Given the description of an element on the screen output the (x, y) to click on. 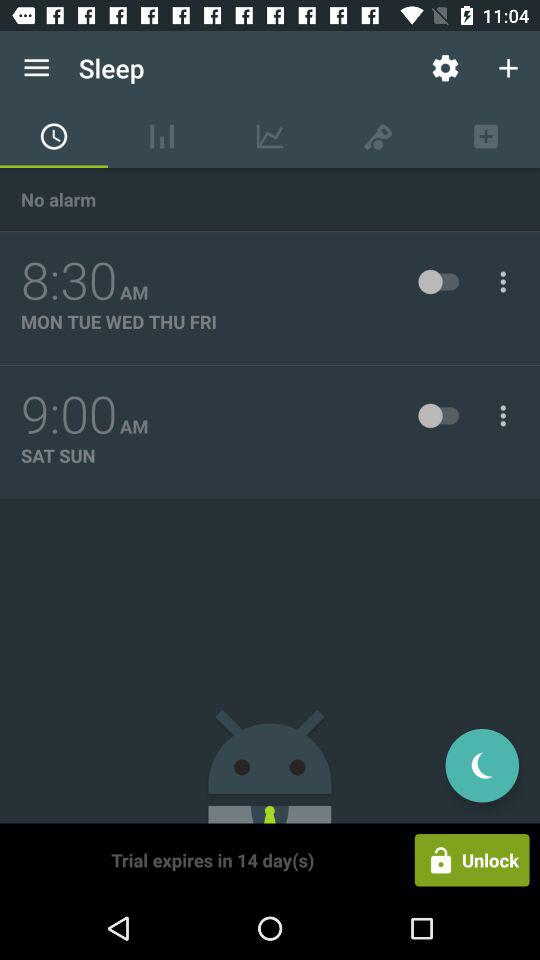
jump until 8:30 item (69, 281)
